Given the description of an element on the screen output the (x, y) to click on. 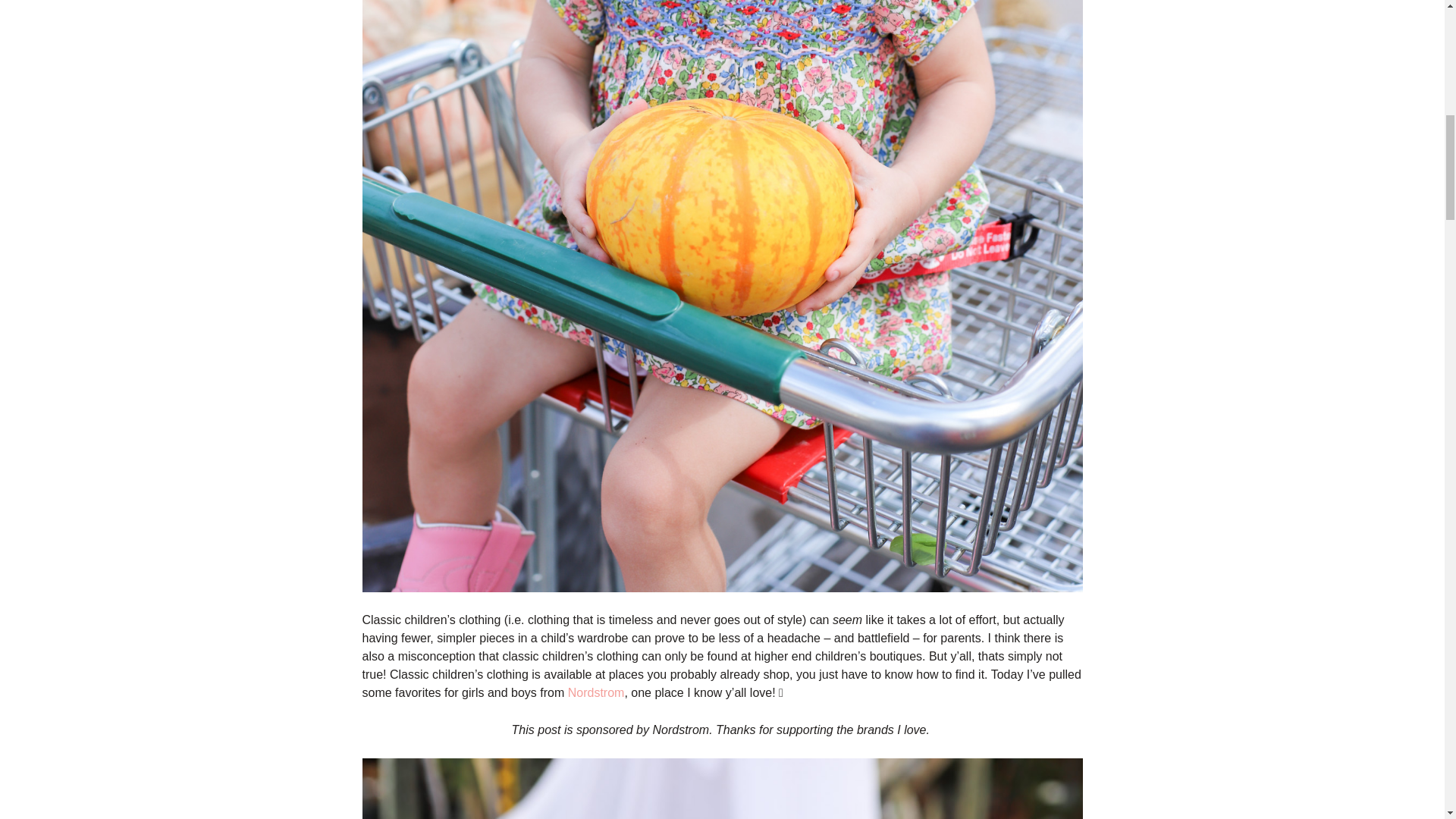
Nordstrom (595, 692)
